Given the description of an element on the screen output the (x, y) to click on. 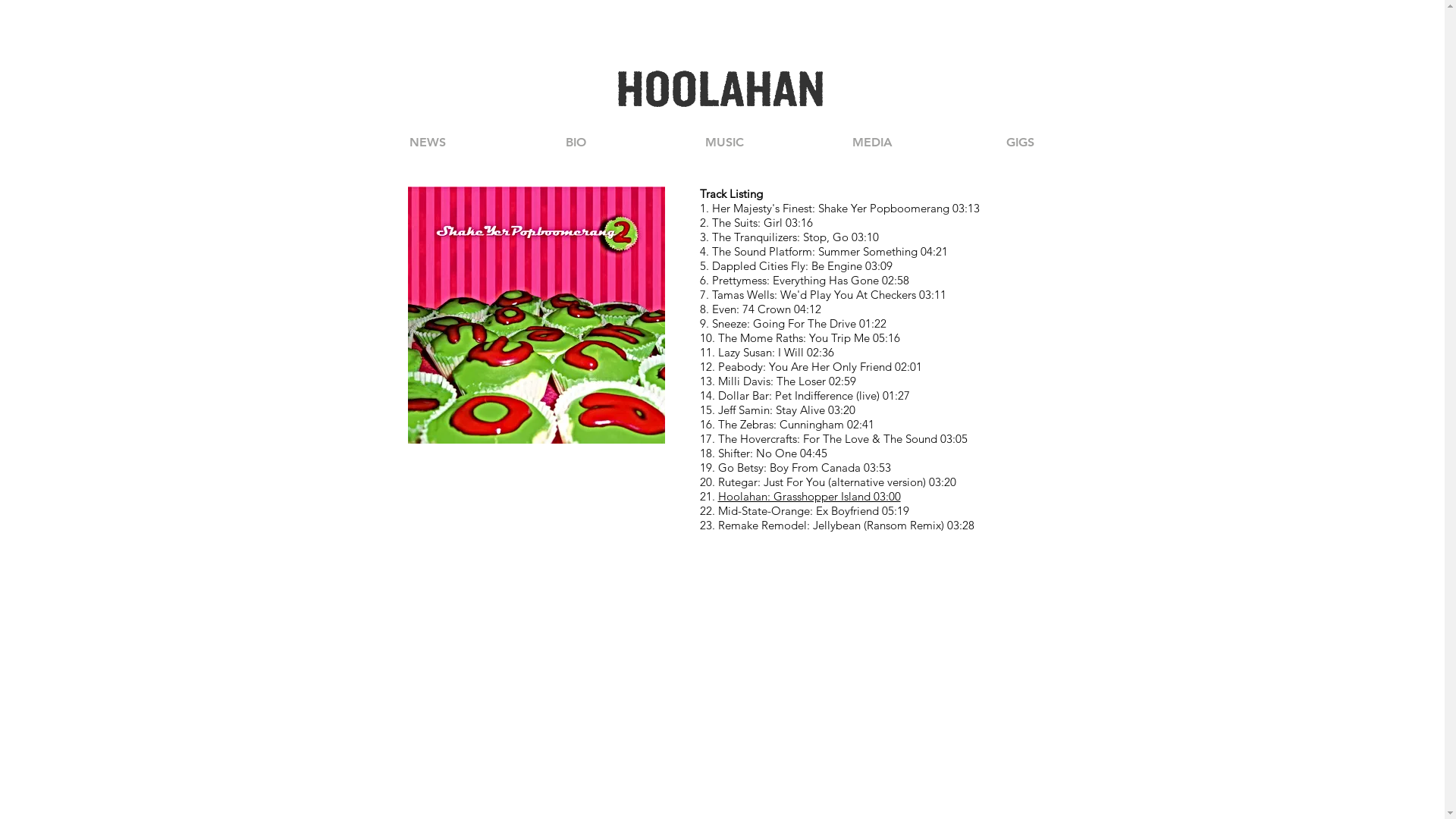
MEDIA Element type: text (872, 142)
BIO Element type: text (575, 142)
NEWS Element type: text (426, 142)
Hoolahan: Grasshopper Island 03:00 Element type: text (808, 496)
GIGS Element type: text (1019, 142)
MUSIC Element type: text (723, 142)
Embedded Content Element type: hover (536, 481)
